Given the description of an element on the screen output the (x, y) to click on. 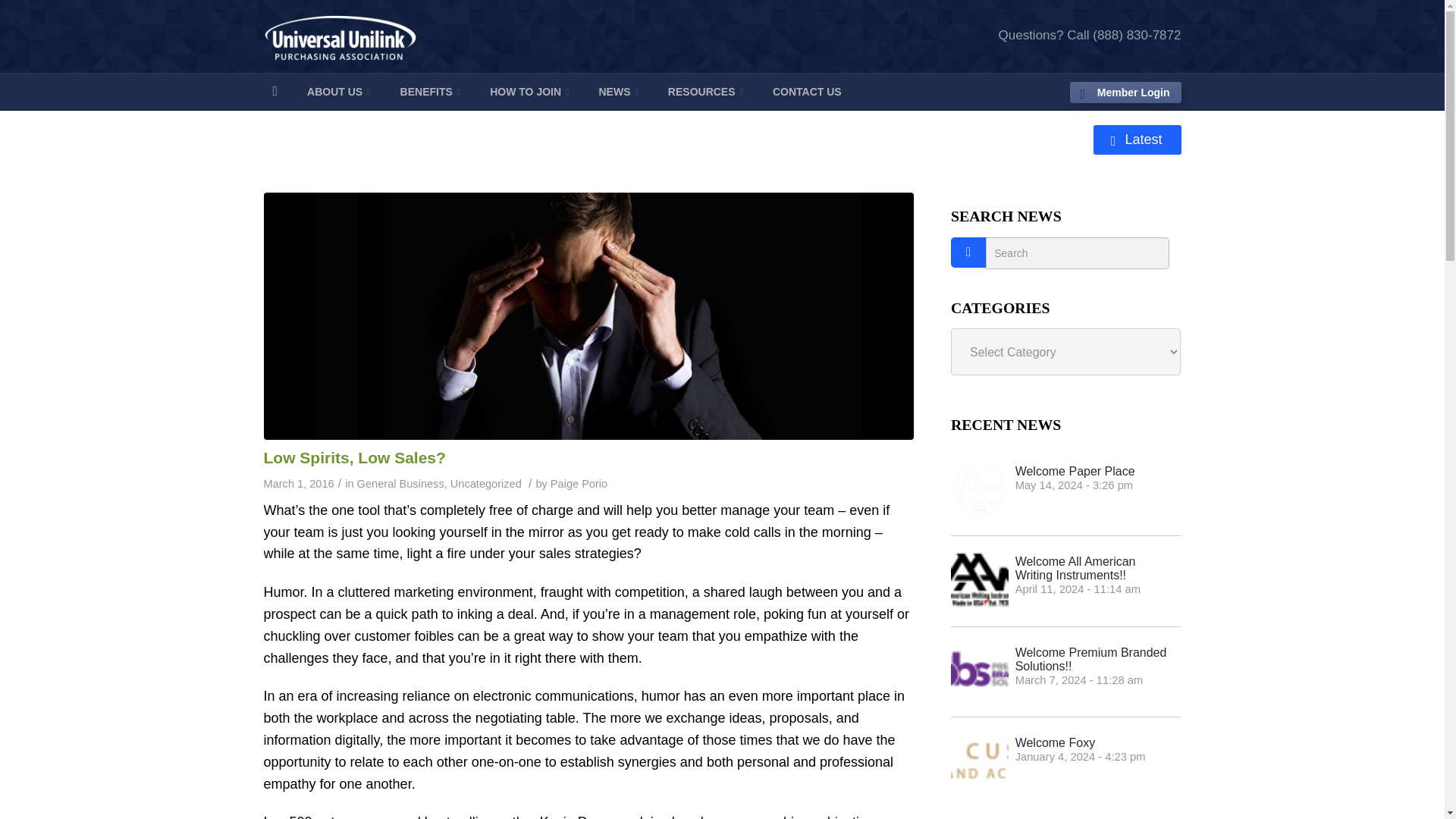
Permanent Link: Low Spirits, Low Sales? (354, 457)
RESOURCES (705, 91)
BENEFITS (430, 91)
Low Spirits, Low Sales? (354, 457)
NEWS (617, 91)
General Business (400, 483)
Uncategorized (485, 483)
HOW TO JOIN (529, 91)
CONTACT US (806, 91)
Posts by Paige Porio (578, 483)
Welcome Foxy (1065, 761)
Welcome Premium Branded Solutions!! (1065, 671)
Latest (1136, 139)
Welcome Paper Place (1065, 490)
